Given the description of an element on the screen output the (x, y) to click on. 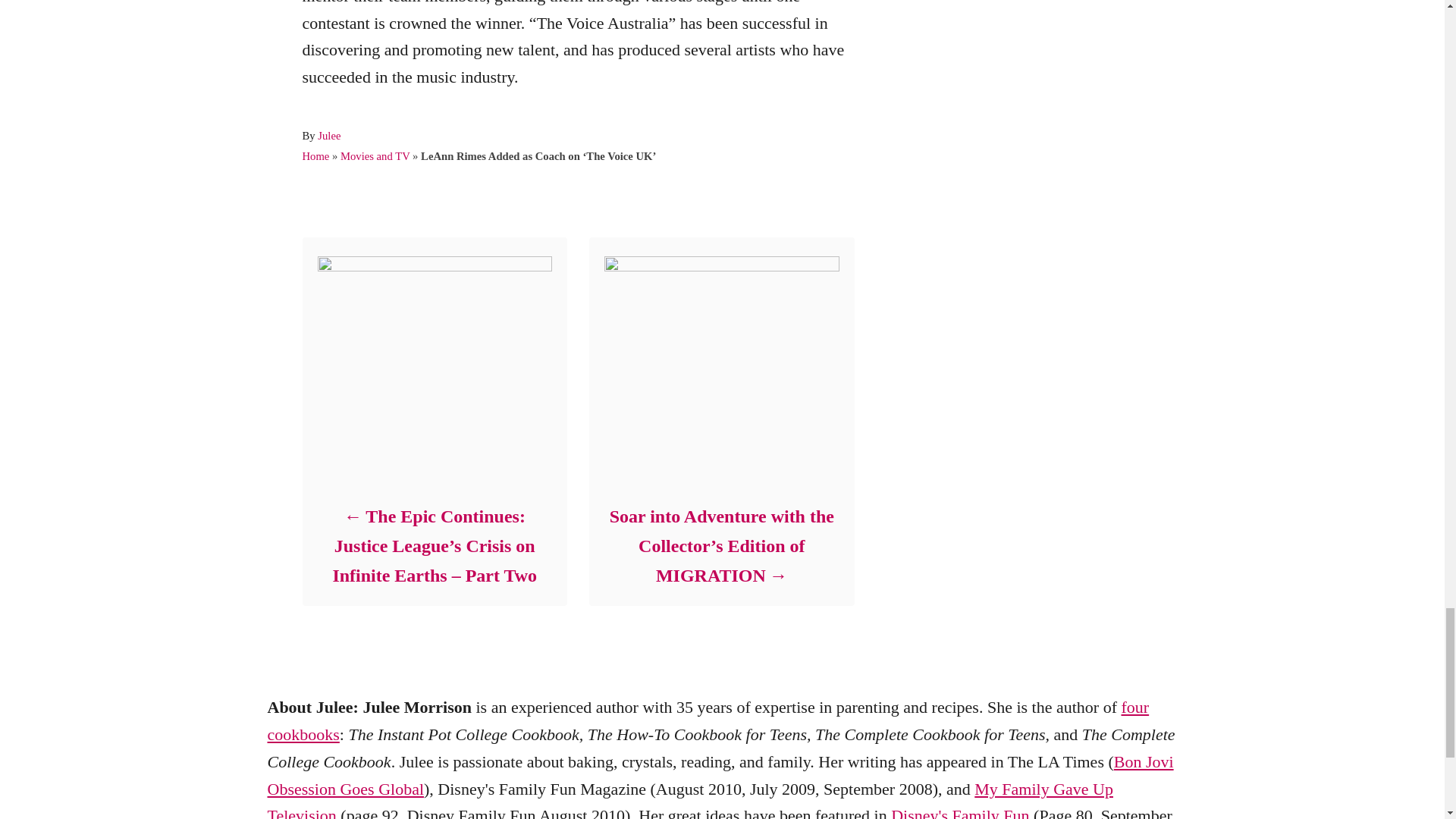
Bon Jovi Obsession Goes Global (719, 775)
Julee (328, 135)
My Family Gave Up Television (689, 799)
Disney's Family Fun (960, 812)
Home (315, 155)
four cookbooks (707, 720)
Movies and TV (374, 155)
